Given the description of an element on the screen output the (x, y) to click on. 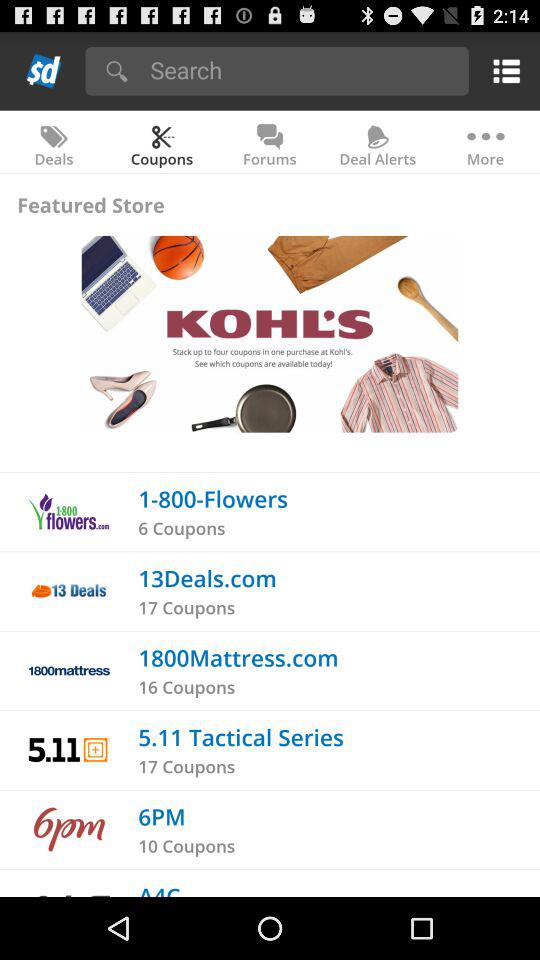
press the icon below the 10 coupons item (159, 888)
